Given the description of an element on the screen output the (x, y) to click on. 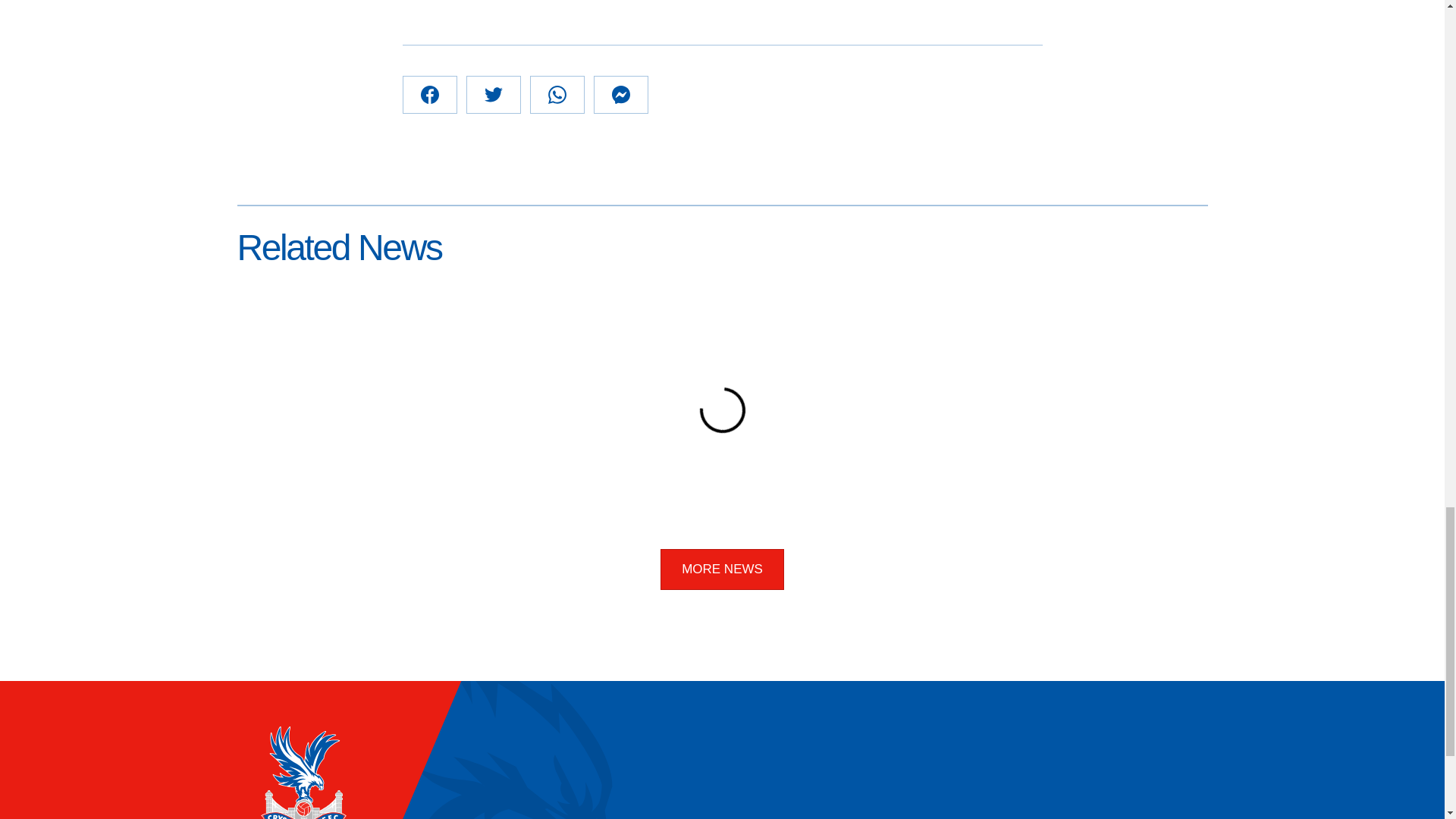
MORE NEWS (722, 568)
Crystal palace (302, 772)
